Given the description of an element on the screen output the (x, y) to click on. 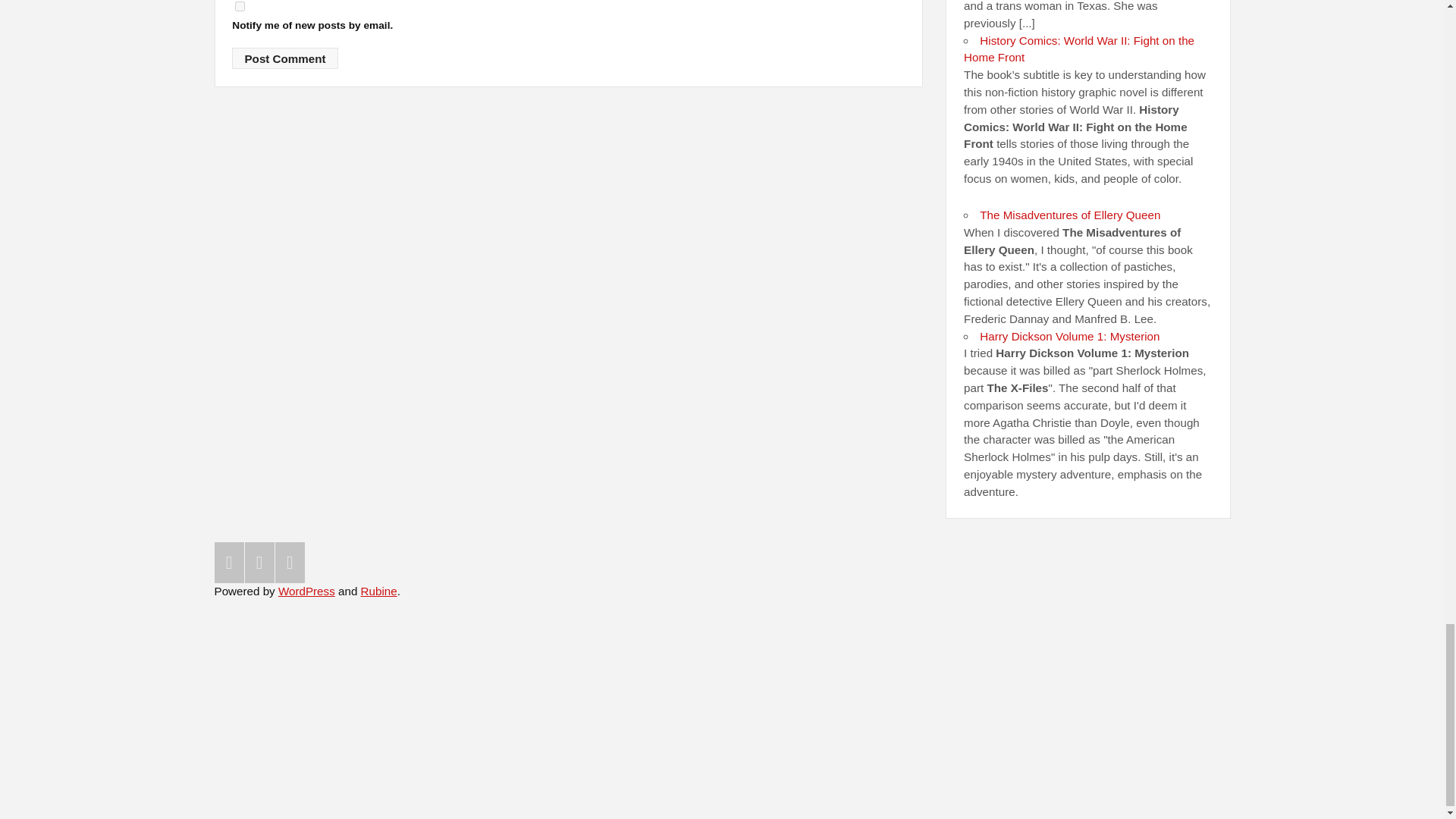
subscribe (239, 6)
Post Comment (284, 57)
